Given the description of an element on the screen output the (x, y) to click on. 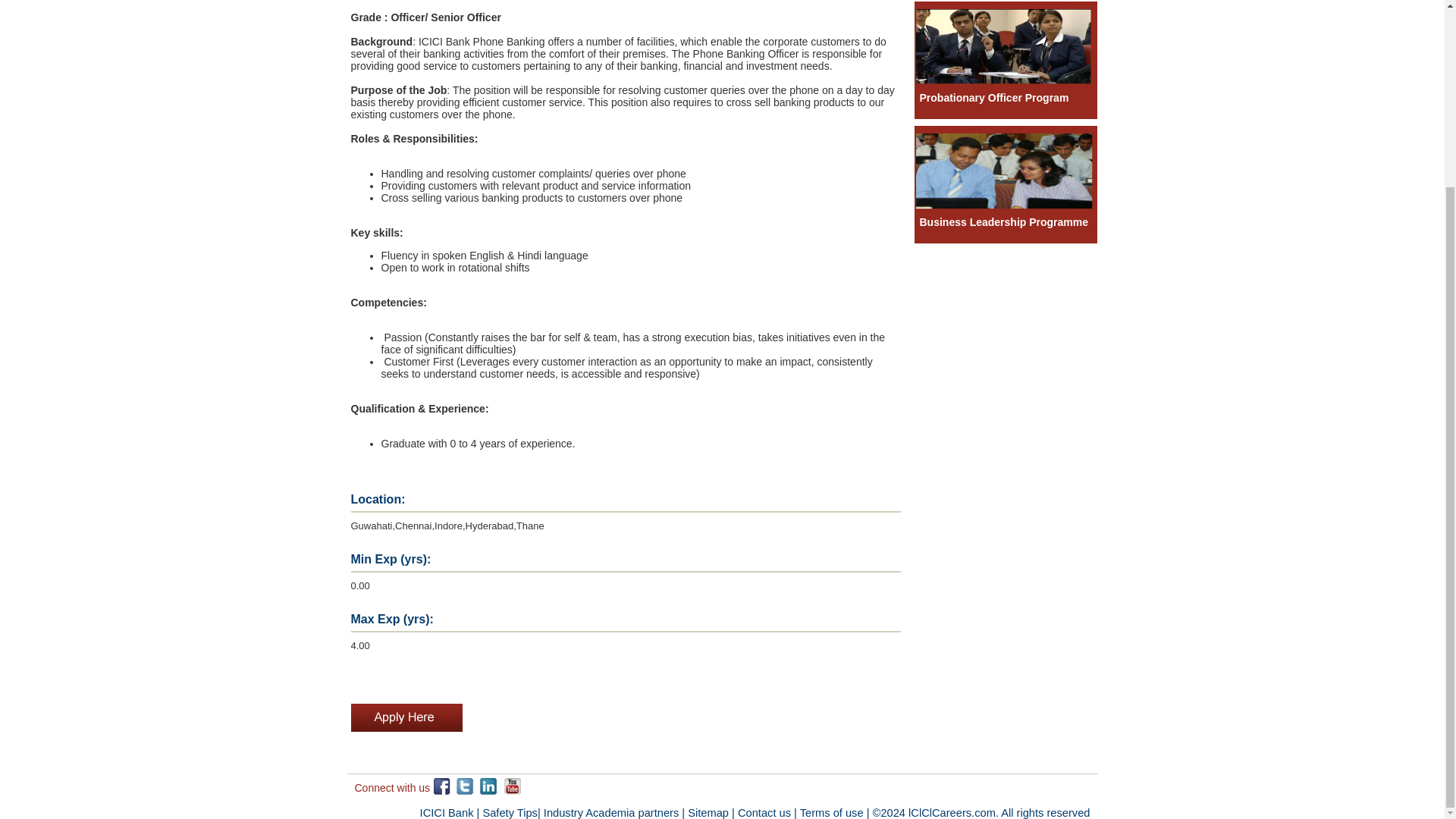
Business Leadership Programme (1002, 222)
Probationary Officer Program (993, 97)
Business Leadership Programme (1002, 222)
Probationary Officer Program (993, 97)
Probationary Officer Program (1004, 80)
Business Leadership Programme (1004, 205)
